Given the description of an element on the screen output the (x, y) to click on. 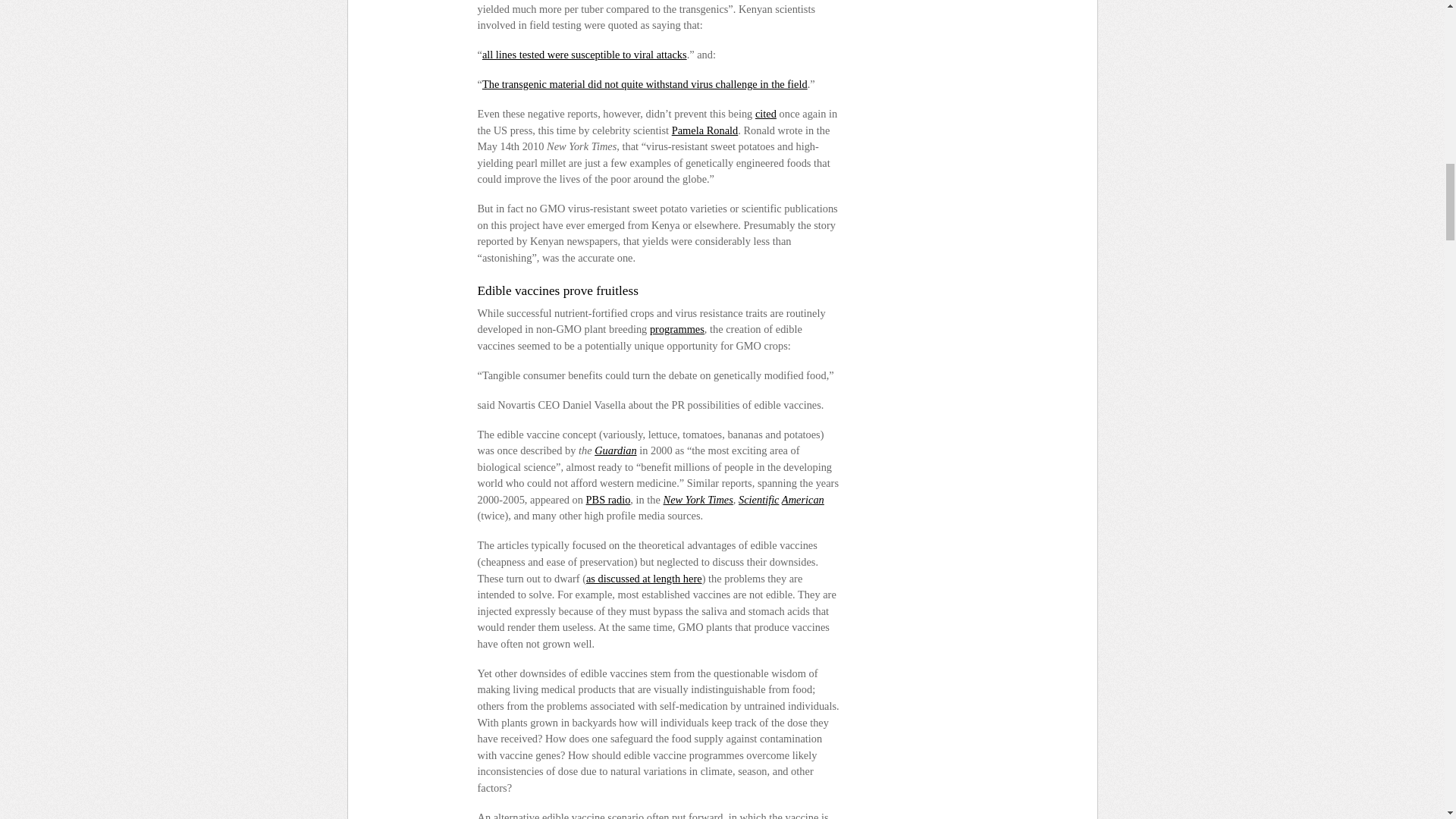
New York Times (698, 499)
as discussed at length here (643, 578)
Pamela Ronald (704, 130)
all lines tested were susceptible to viral attacks (584, 54)
Guardian (615, 450)
PBS radio (608, 499)
cited (765, 113)
programmes (676, 328)
American (802, 499)
